Given the description of an element on the screen output the (x, y) to click on. 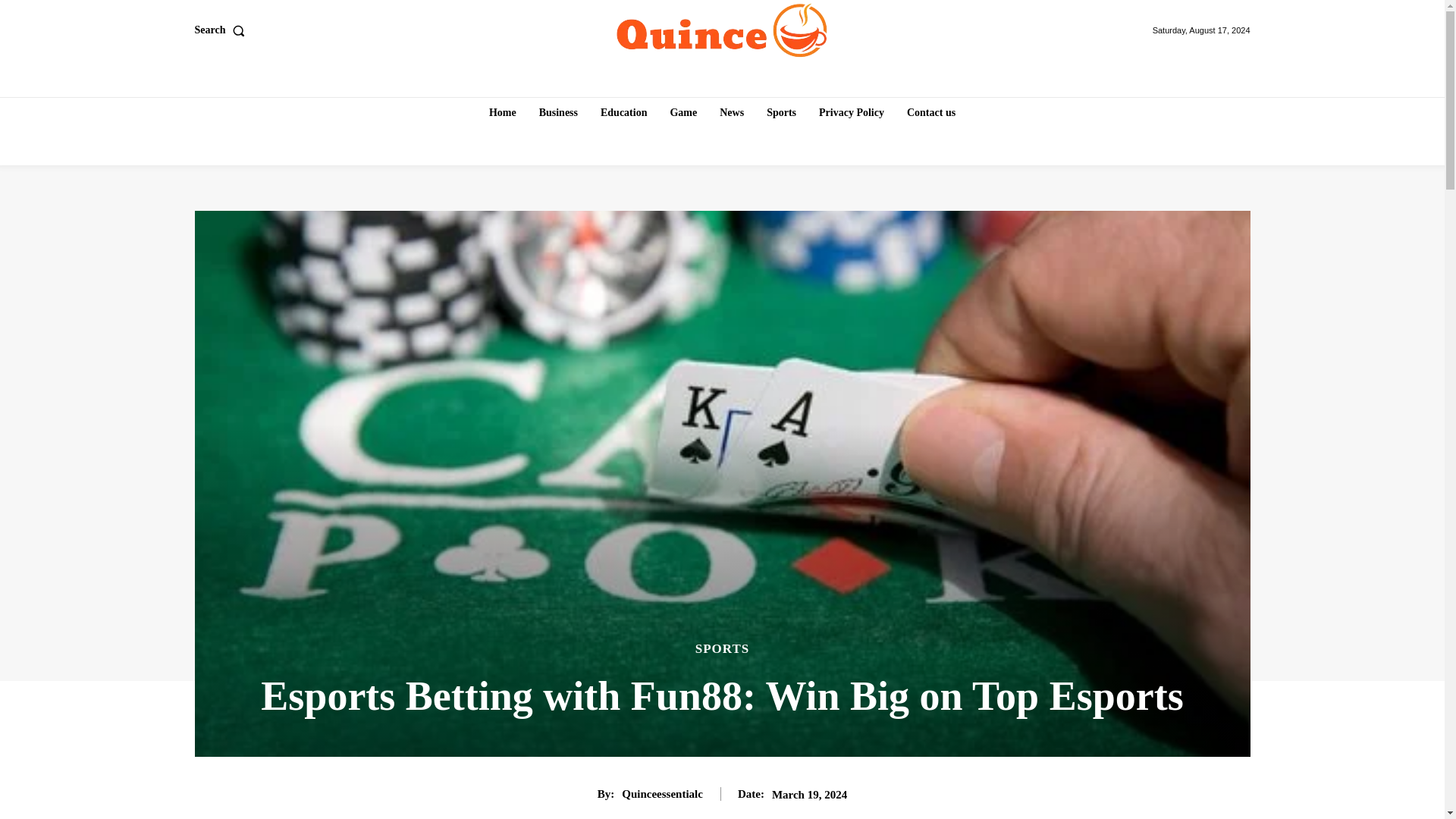
Home (502, 112)
Sports (780, 112)
Privacy Policy (850, 112)
Business (558, 112)
Search (221, 29)
Game (683, 112)
News (731, 112)
Quinceessentialc (662, 793)
Education (622, 112)
Contact us (930, 112)
